Given the description of an element on the screen output the (x, y) to click on. 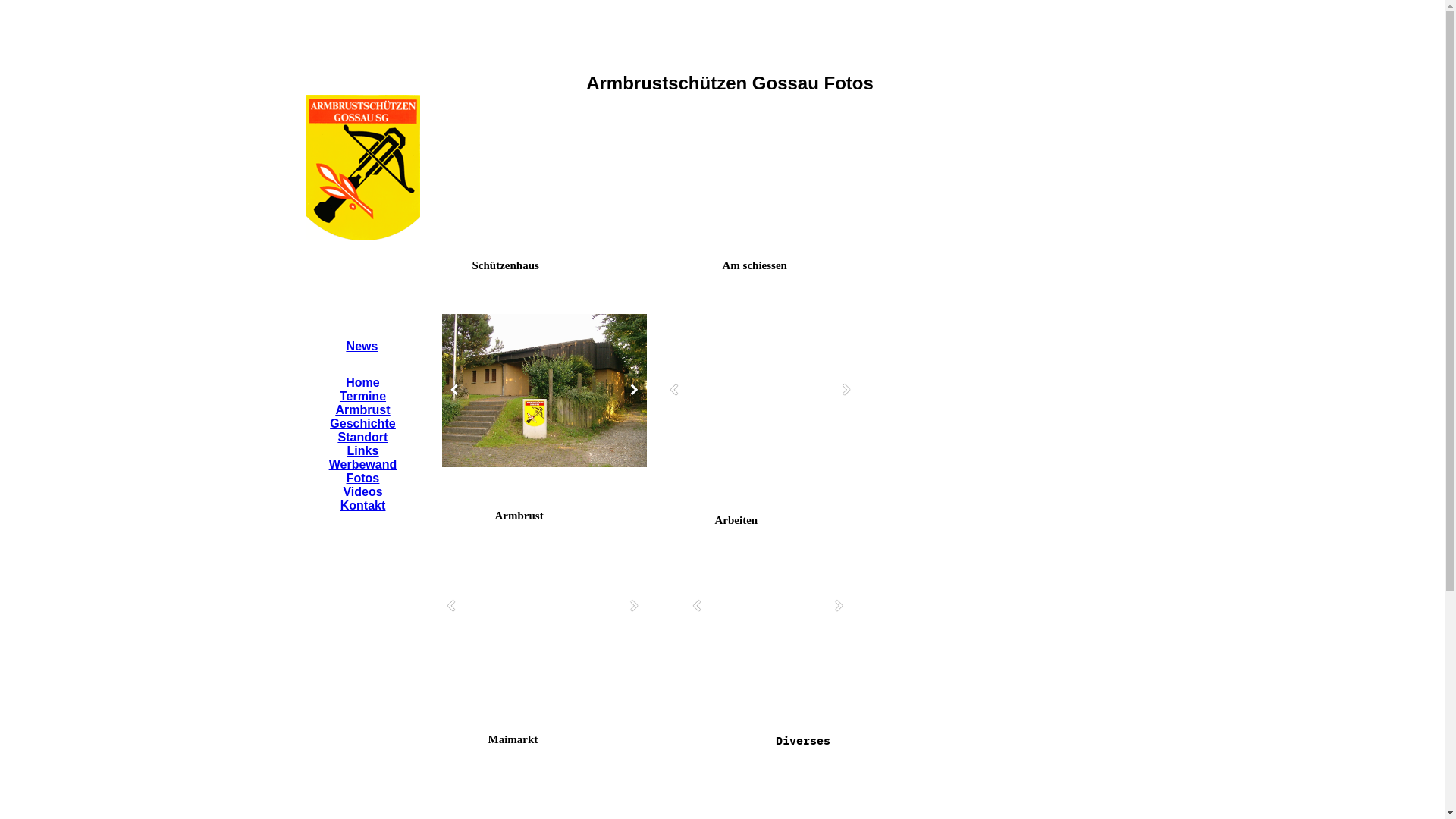
Standort Element type: text (363, 436)
Werbewand Element type: text (363, 464)
Videos Element type: text (362, 491)
Home Element type: text (362, 382)
Armbrust Element type: text (362, 409)
Geschichte Element type: text (362, 423)
Fotos Element type: text (362, 477)
Termine Element type: text (362, 395)
News Element type: text (362, 345)
Links Element type: text (363, 450)
Kontakt Element type: text (362, 504)
